Given the description of an element on the screen output the (x, y) to click on. 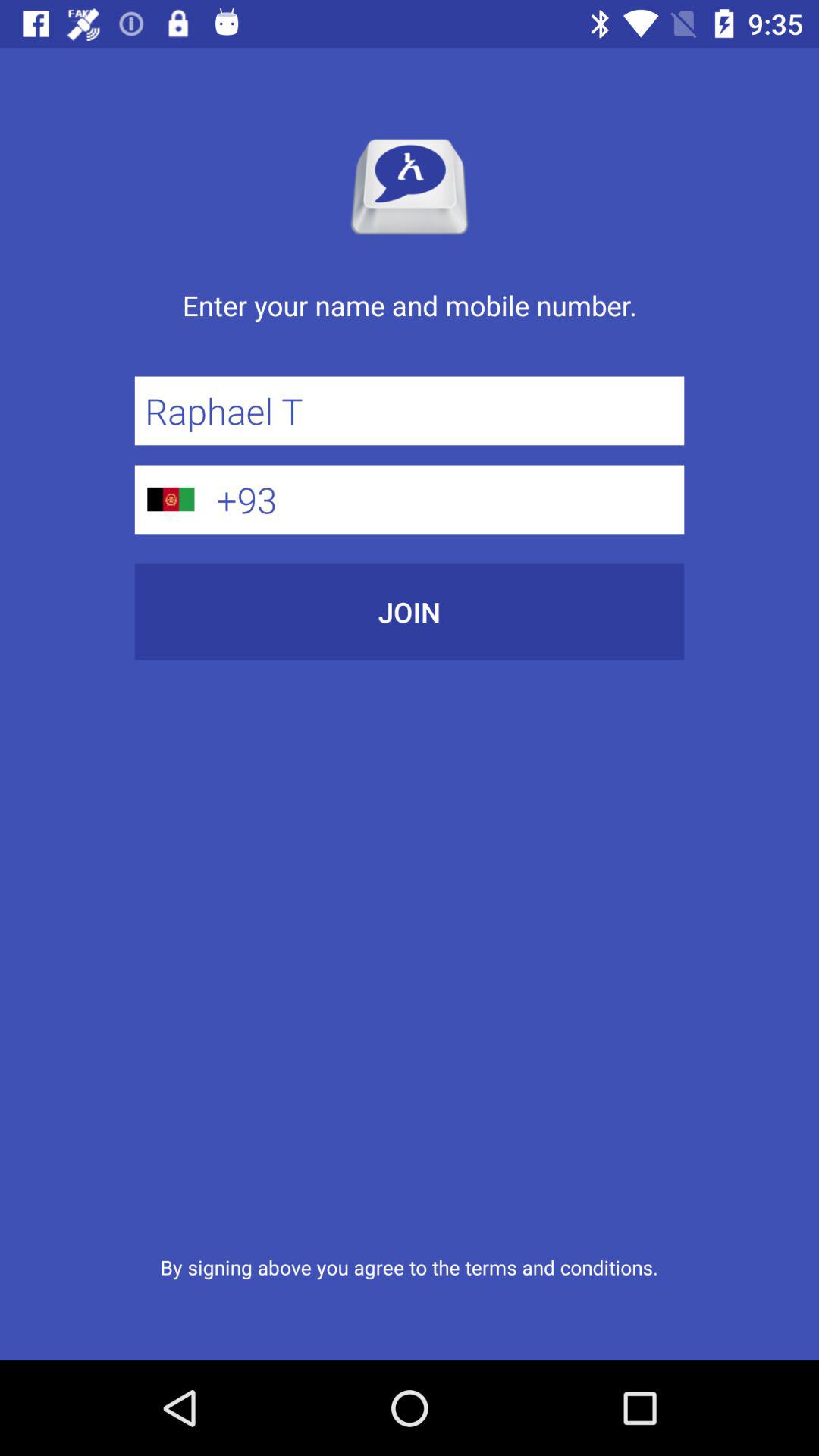
swipe to the raphael t item (409, 410)
